Given the description of an element on the screen output the (x, y) to click on. 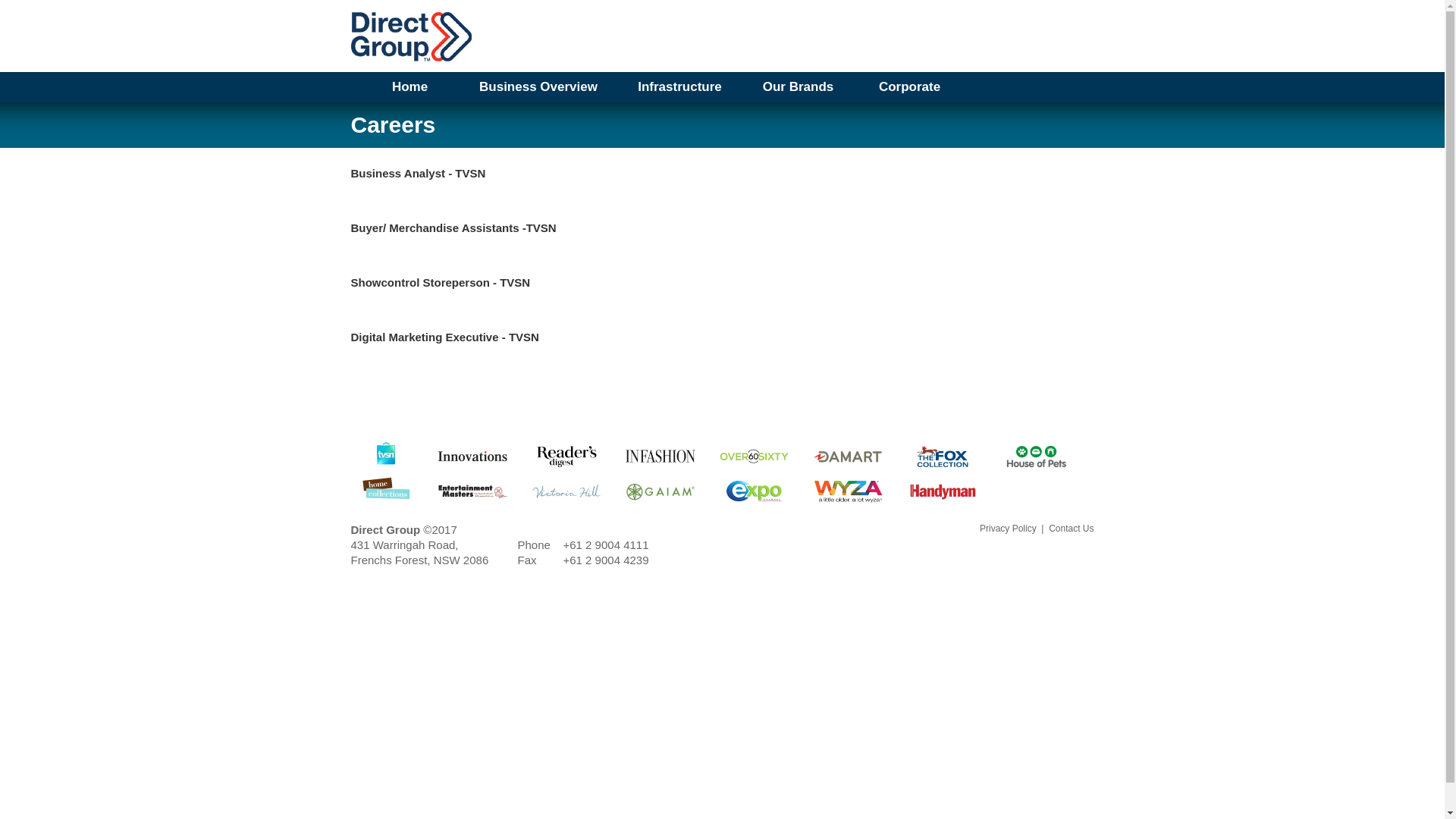
Home Element type: text (409, 87)
Contact Us Element type: text (1070, 528)
Privacy Policy Element type: text (1007, 528)
Our Brands Element type: text (797, 87)
Corporate Element type: text (909, 87)
Infrastructure Element type: text (679, 87)
Business Overview Element type: text (537, 87)
